Given the description of an element on the screen output the (x, y) to click on. 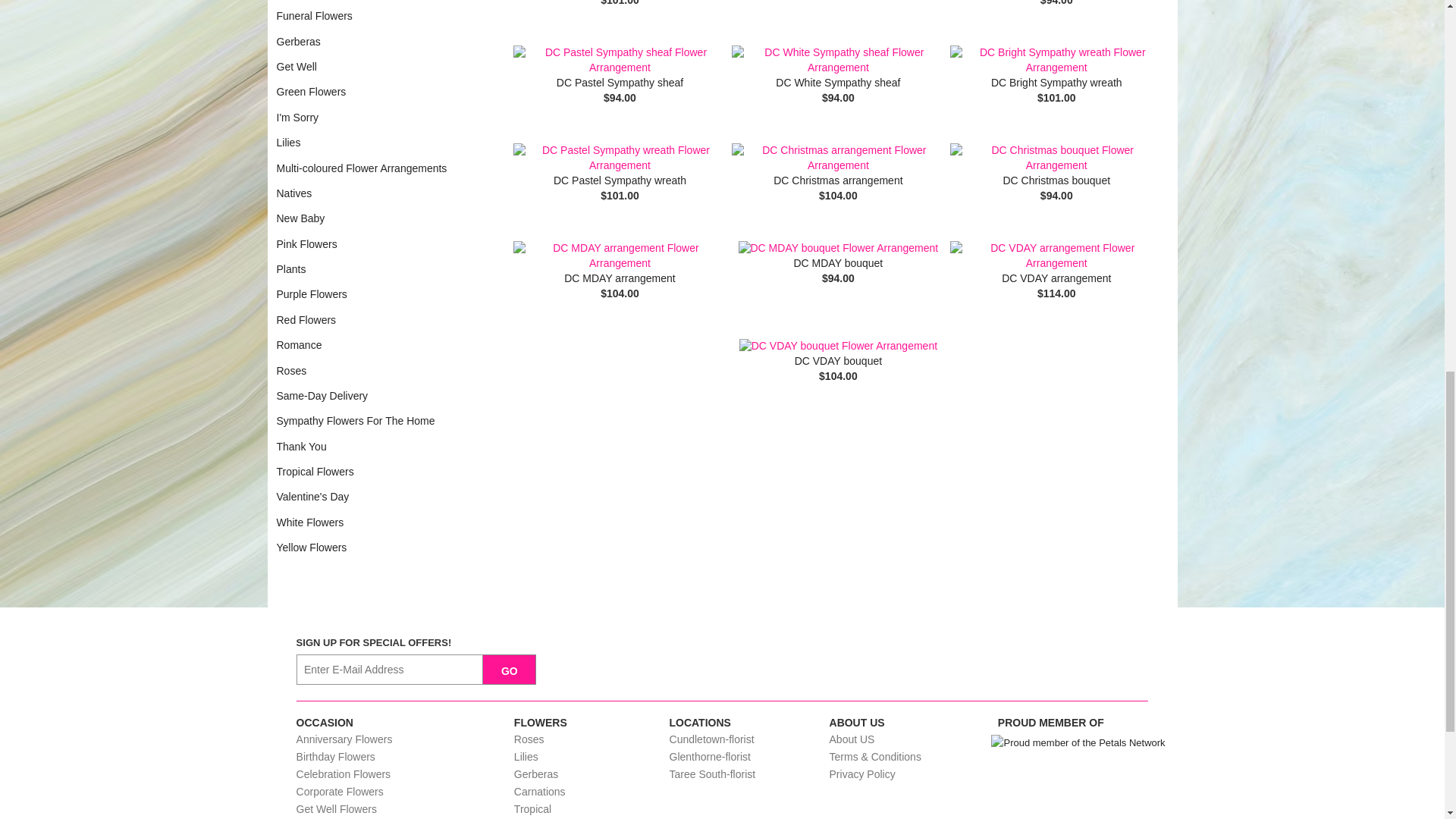
go (509, 669)
Go (509, 669)
Email Sign up (390, 669)
